Given the description of an element on the screen output the (x, y) to click on. 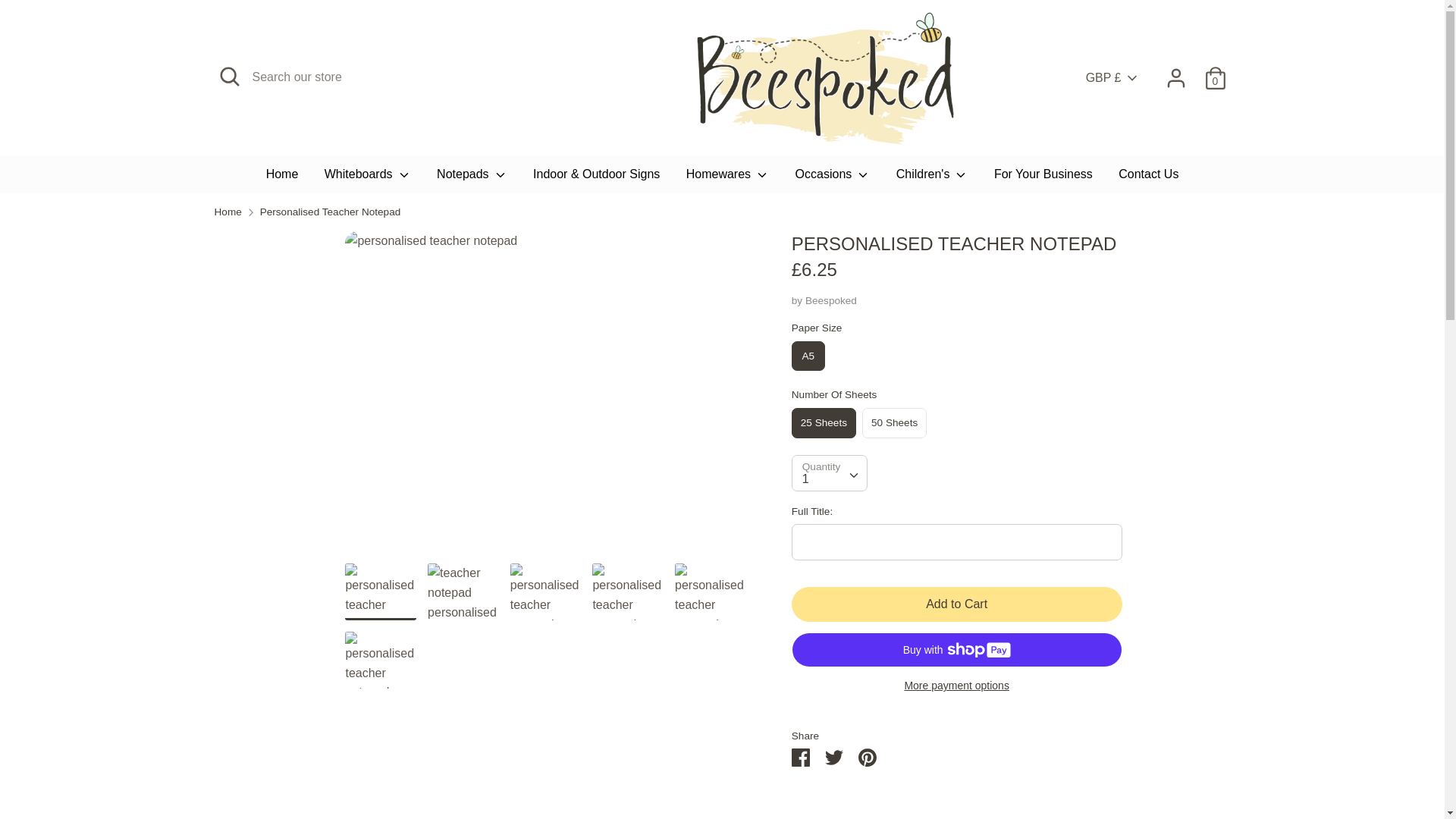
1 (829, 472)
